Given the description of an element on the screen output the (x, y) to click on. 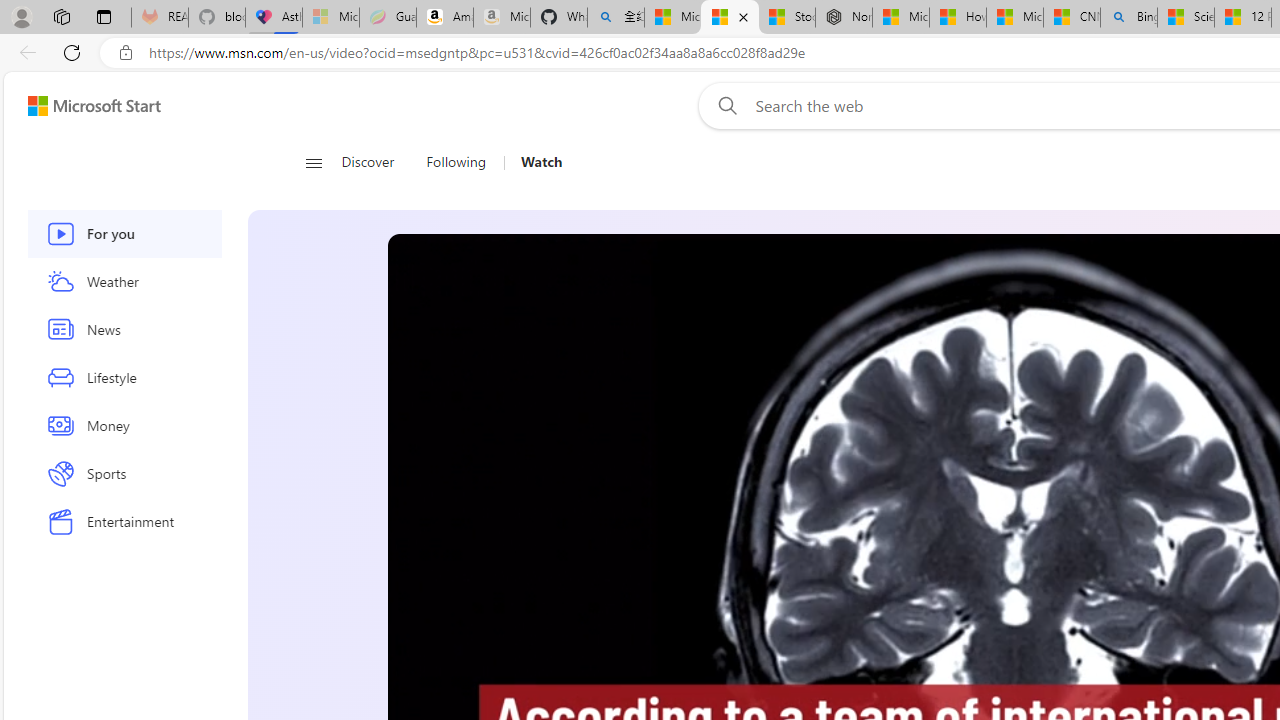
CNN - MSN (1071, 17)
